Given the description of an element on the screen output the (x, y) to click on. 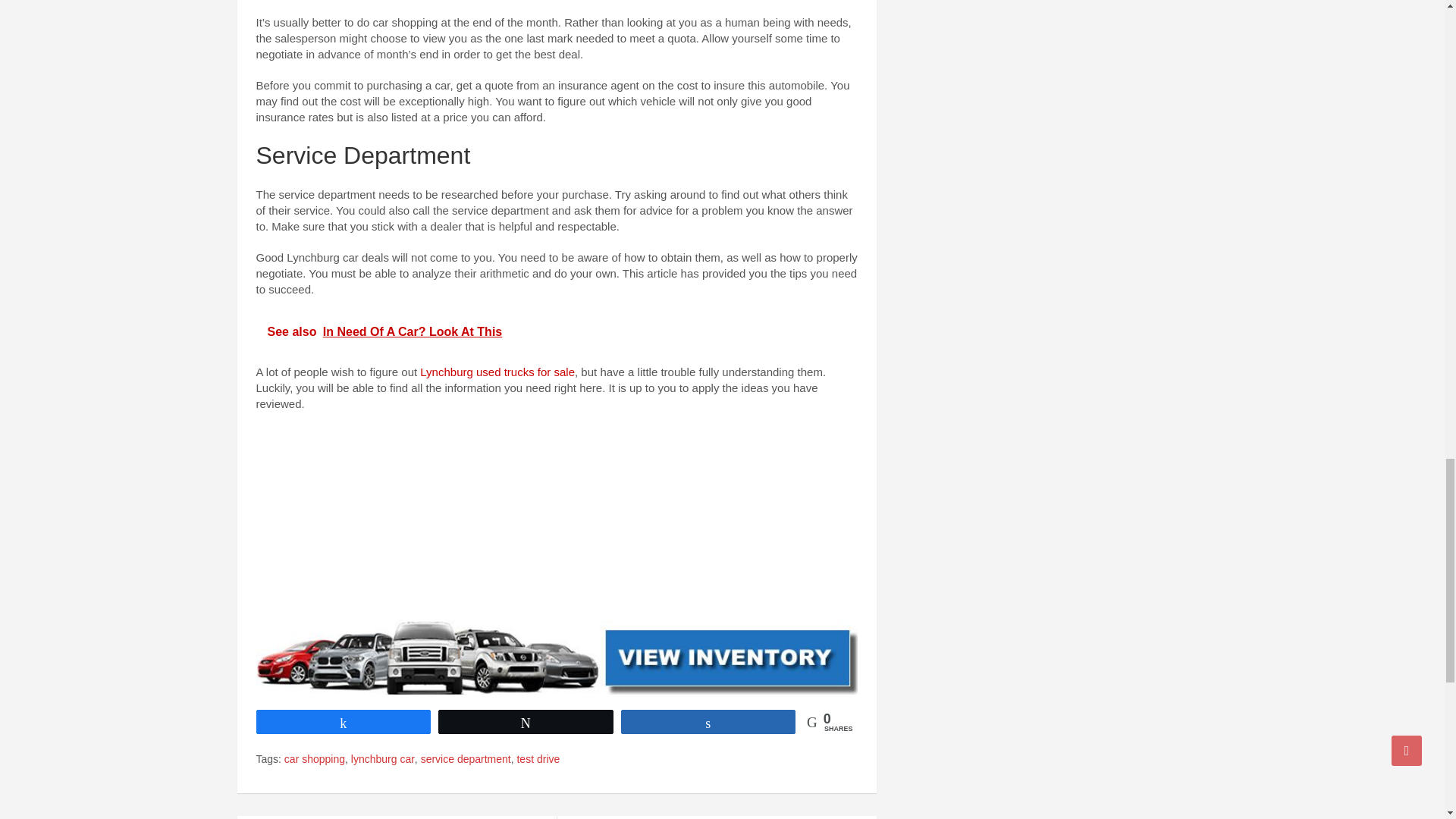
service department (465, 759)
test drive (537, 759)
See also  In Need Of A Car? Look At This (556, 332)
car shopping (314, 759)
lynchburg car (382, 759)
Lynchburg used trucks for sale (497, 371)
